Given the description of an element on the screen output the (x, y) to click on. 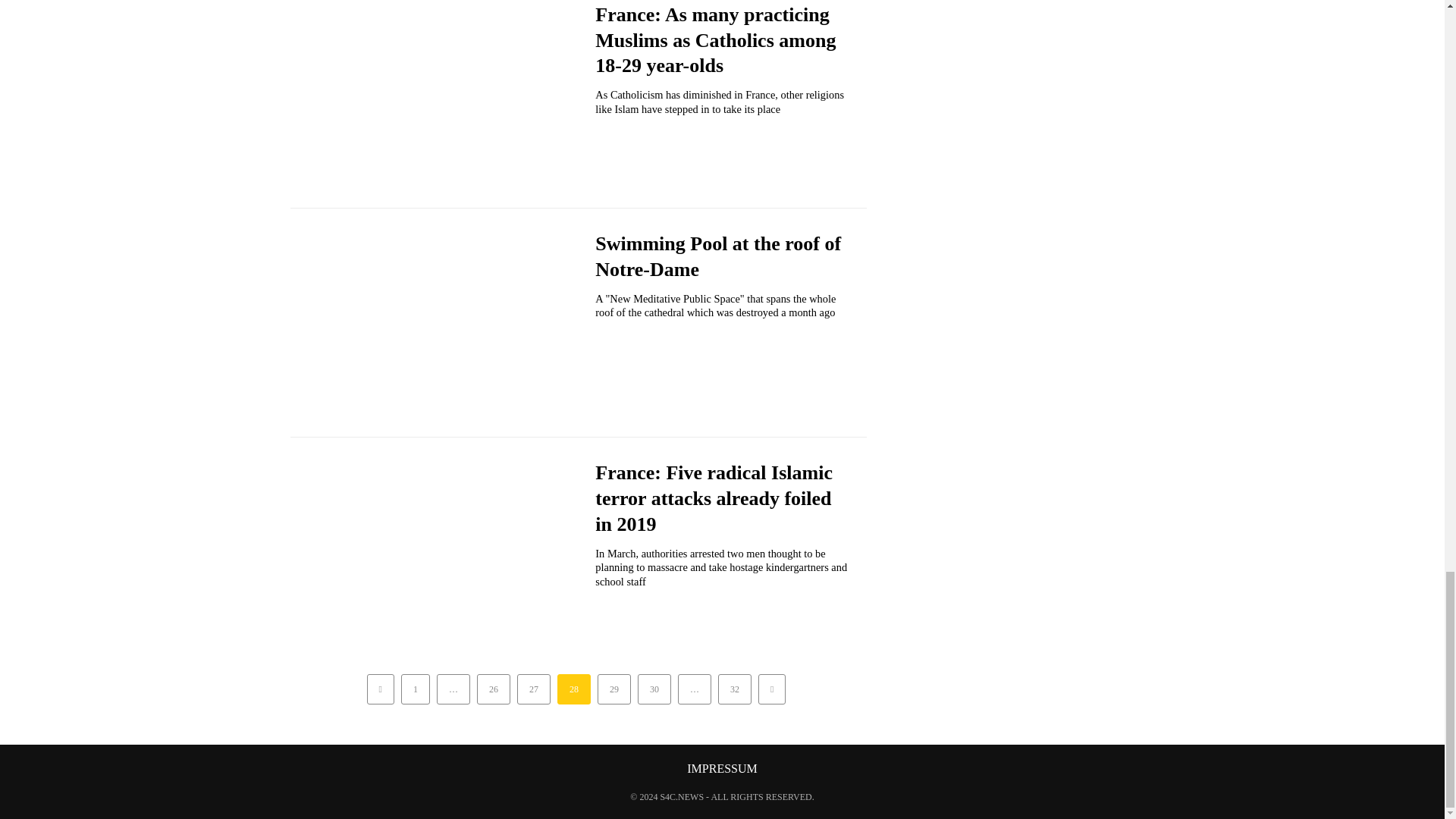
Swimming Pool at the roof of Notre-Dame (718, 256)
